Given the description of an element on the screen output the (x, y) to click on. 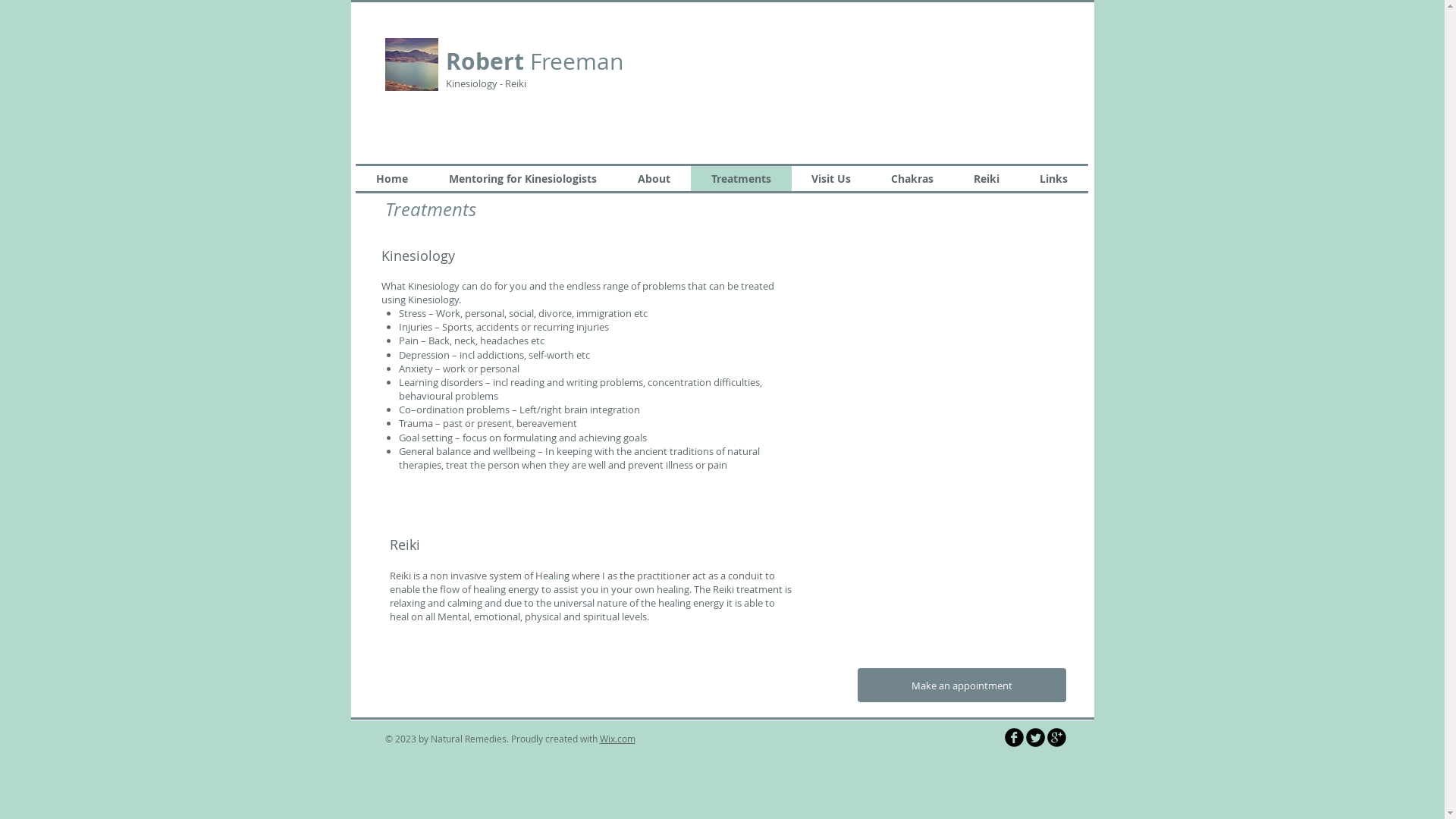
Mentoring for Kinesiologists Element type: text (521, 178)
Links Element type: text (1053, 178)
Treatments Element type: text (740, 178)
Wix.com Element type: text (616, 738)
Make an appointment Element type: text (960, 685)
Home Element type: text (390, 178)
Kinesiology Element type: text (471, 83)
Mountain Lake Element type: hover (411, 64)
Reiki Element type: text (986, 178)
Robert Element type: text (484, 61)
Chakras Element type: text (911, 178)
Visit Us Element type: text (831, 178)
About Element type: text (653, 178)
